Given the description of an element on the screen output the (x, y) to click on. 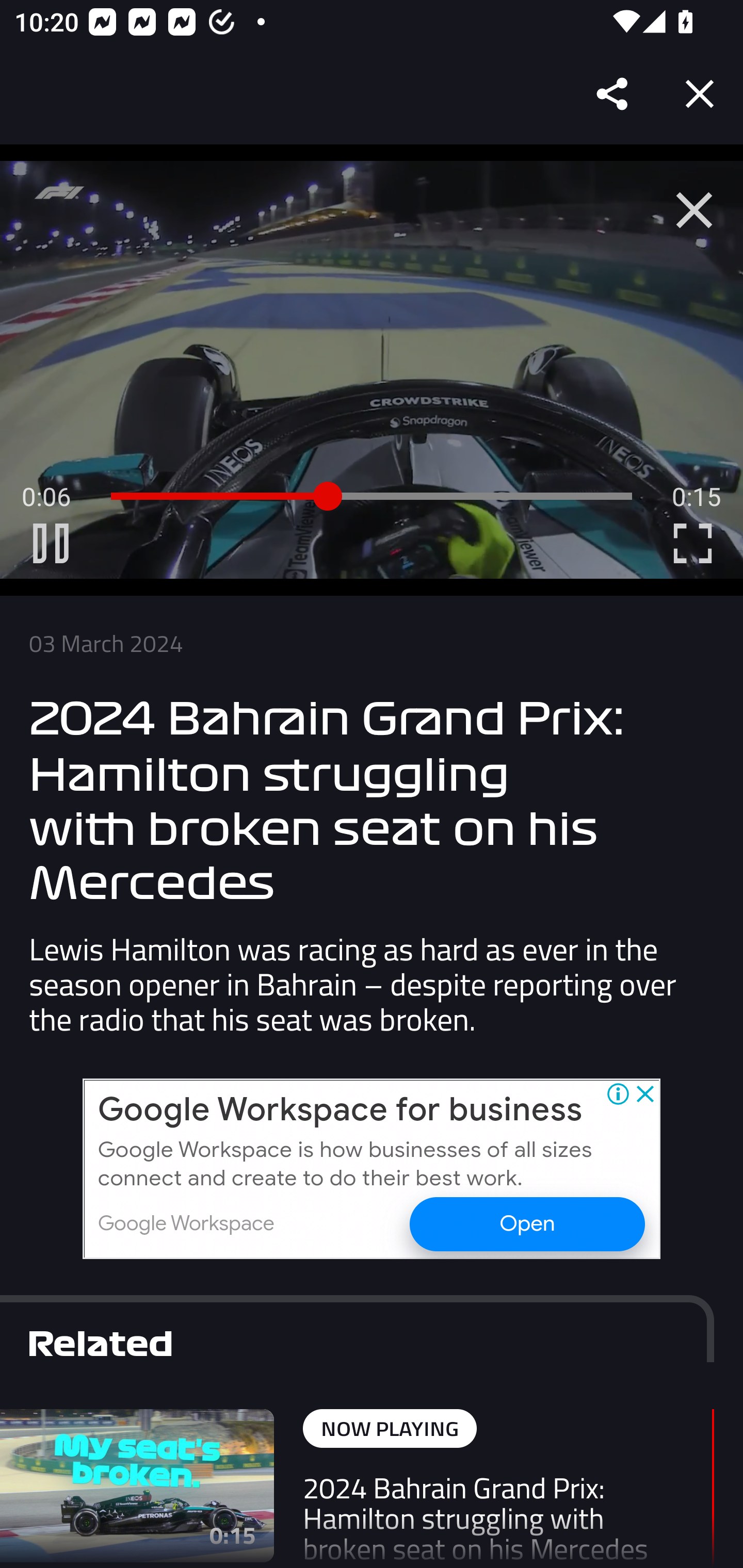
Share (612, 93)
Close (699, 93)
 Close (693, 210)
B Pause (50, 543)
C Enter Fullscreen (692, 543)
Google Workspace for business (340, 1109)
Open (526, 1222)
Google Workspace (186, 1223)
